Given the description of an element on the screen output the (x, y) to click on. 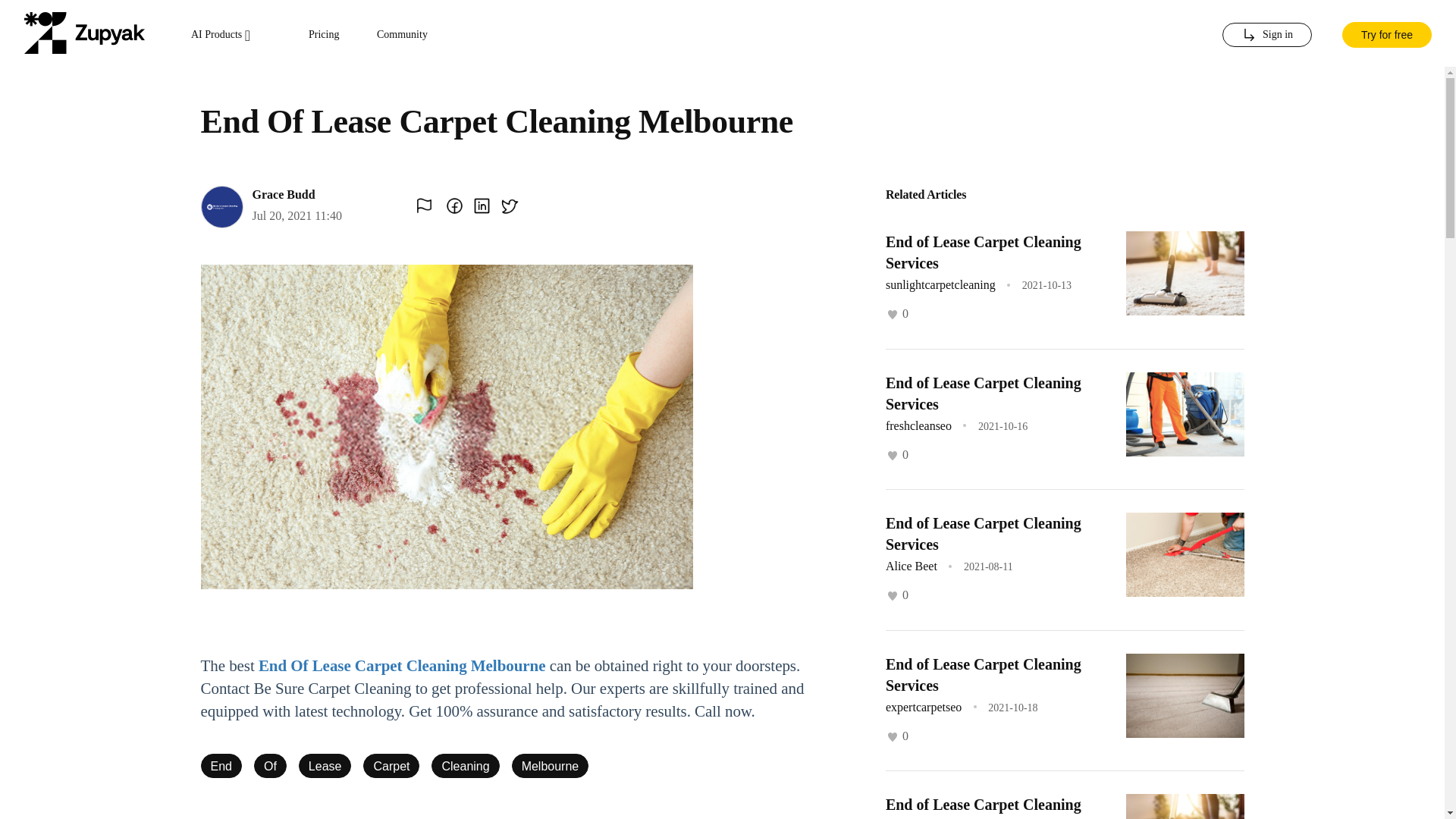
End (220, 765)
End of Lease Carpet Cleaning Services (983, 673)
Pricing (323, 34)
End of Lease Carpet Cleaning Services (983, 252)
Cleaning (464, 765)
Melbourne (550, 765)
Of (269, 765)
Carpet (390, 765)
End of Lease Carpet Cleaning Services (983, 533)
 Sign in (1267, 34)
